Given the description of an element on the screen output the (x, y) to click on. 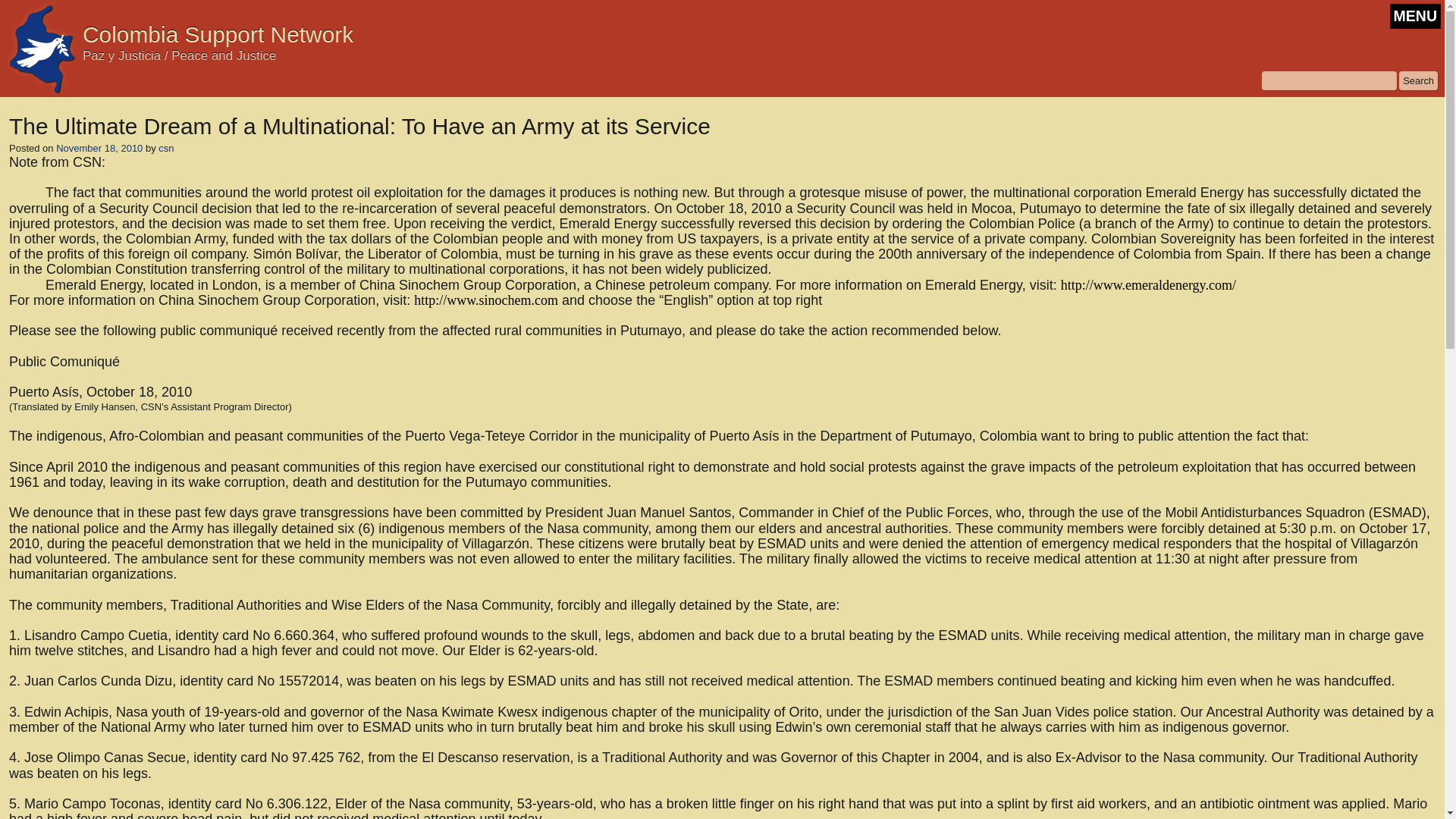
November 18, 2010 (99, 147)
csn (165, 147)
View all posts by csn (165, 147)
MENU (1415, 16)
8:21 pm (99, 147)
Search (1418, 80)
Search (1418, 80)
